Given the description of an element on the screen output the (x, y) to click on. 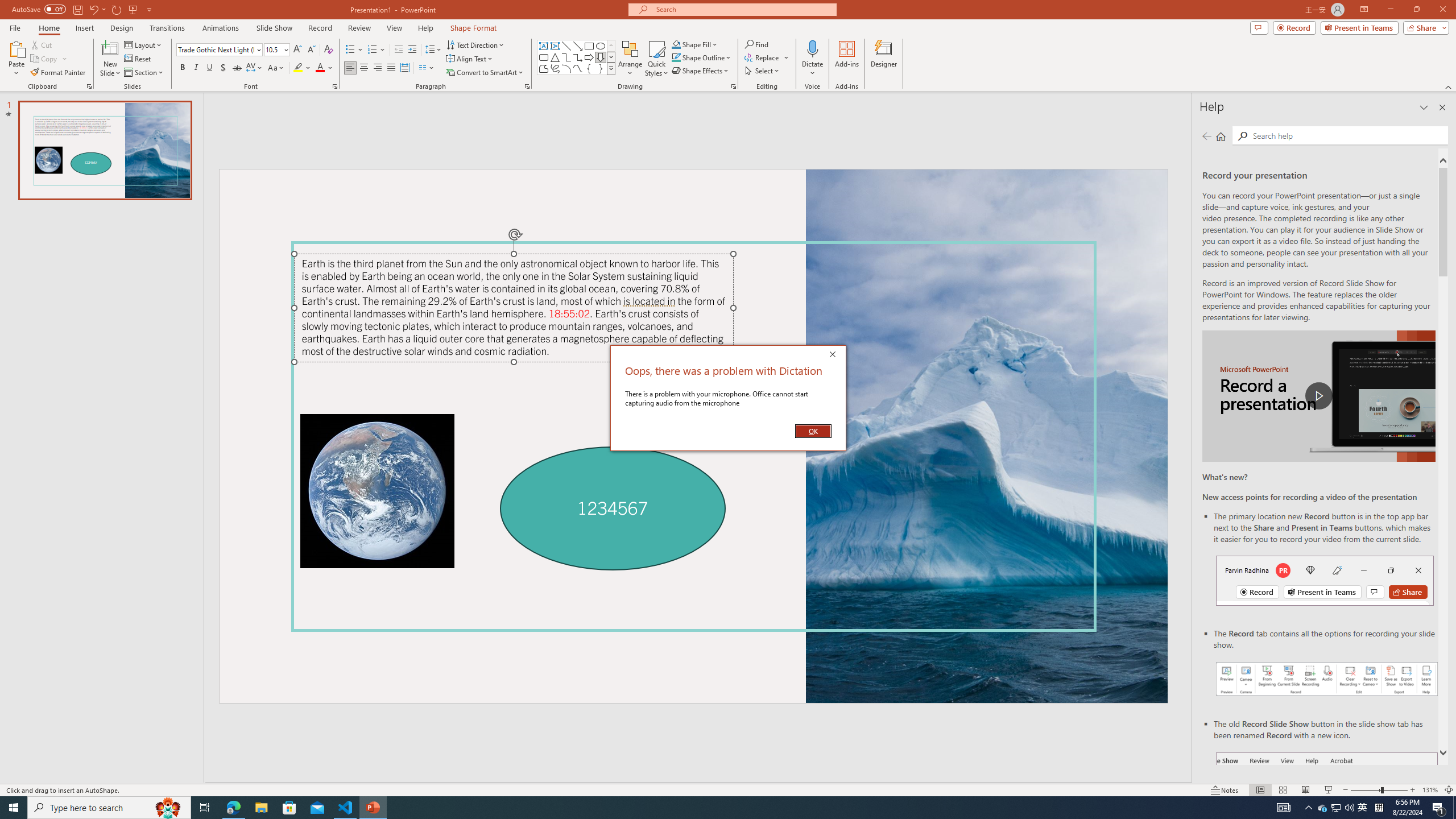
Change Case (276, 67)
Comments (1259, 27)
Vertical Text Box (554, 45)
Undo (92, 9)
Undo (96, 9)
Shape Format (473, 28)
Notification Chevron (1308, 807)
Arc (566, 68)
Record (1294, 27)
Distributed (404, 67)
Right Brace (600, 68)
Clear Formatting (327, 49)
play Record a Presentation (1318, 395)
